Given the description of an element on the screen output the (x, y) to click on. 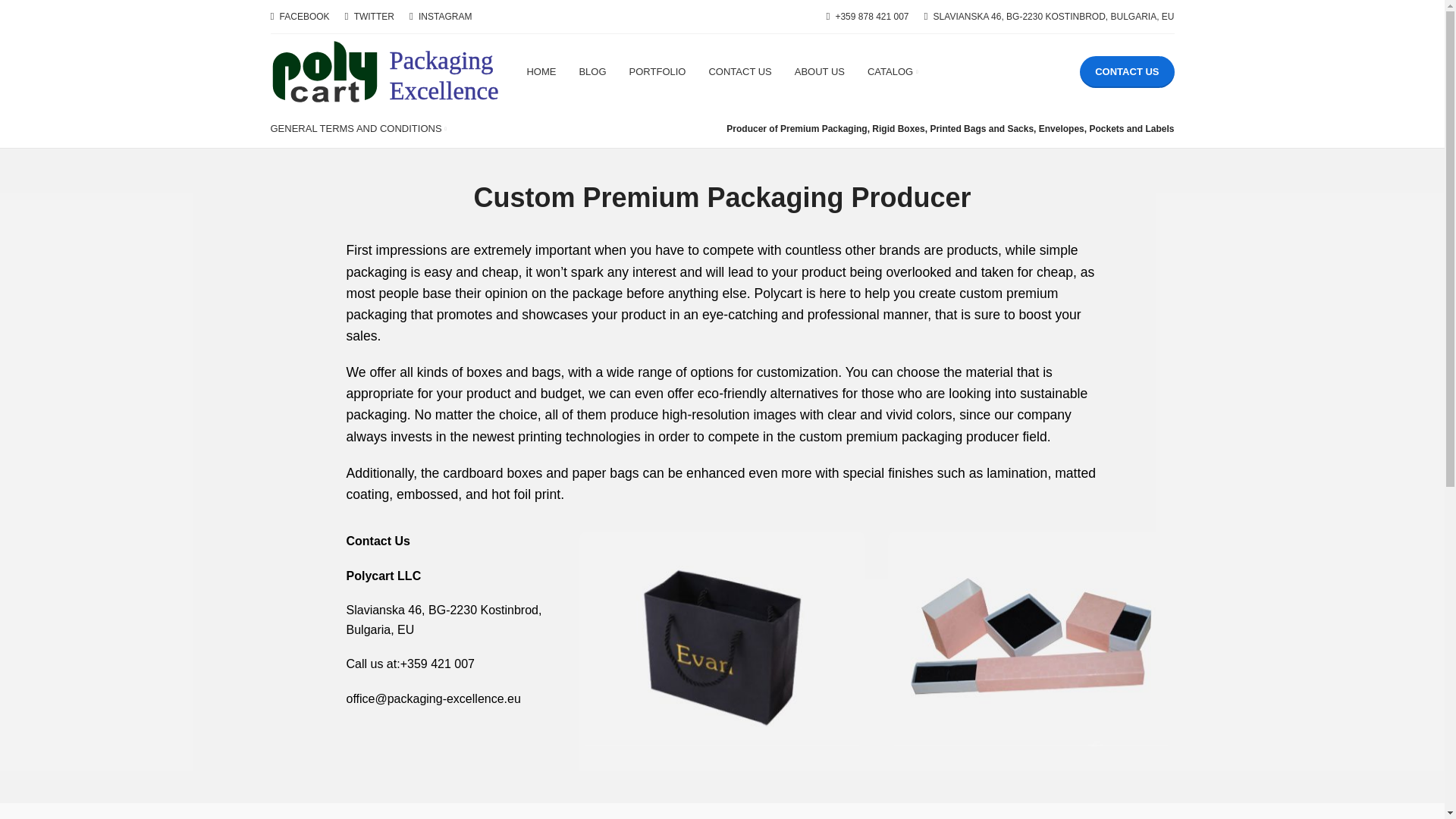
TWITTER (369, 16)
CATALOG (893, 71)
CONTACT US (740, 71)
ABOUT US (819, 71)
CONTACT US (1126, 71)
GENERAL TERMS AND CONDITIONS (357, 128)
SLAVIANSKA 46, BG-2230 KOSTINBROD, BULGARIA, EU (1049, 16)
BLOG (592, 71)
PORTFOLIO (657, 71)
premium-paper-bag-with-print (721, 638)
